Given the description of an element on the screen output the (x, y) to click on. 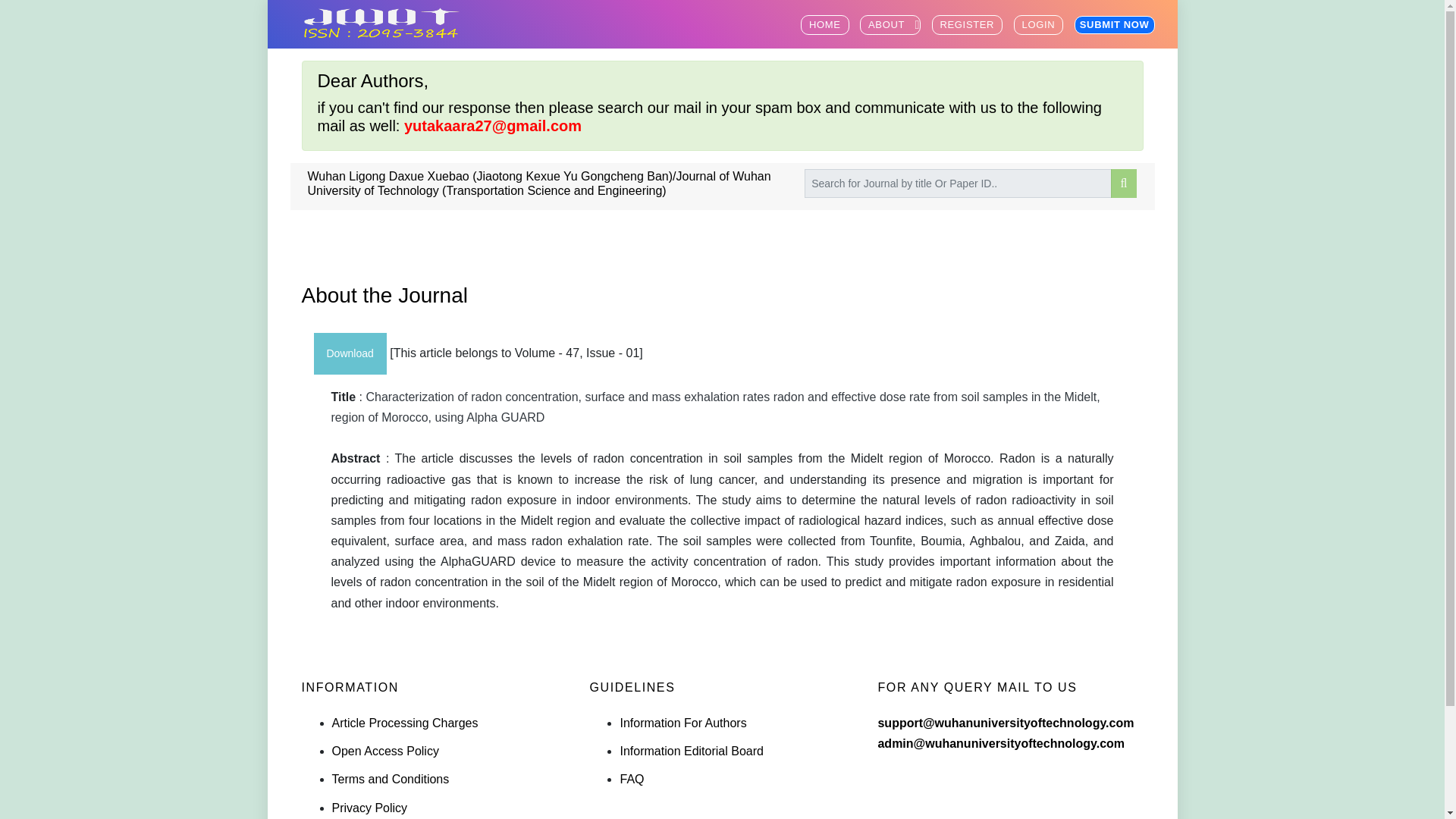
Information Editorial Board (691, 750)
HOME (824, 25)
Faq (631, 779)
Open Access Policy (385, 750)
ABOUT (890, 25)
REGISTER (967, 25)
SUBMIT NOW (1114, 24)
Information For Authors (682, 722)
Home (1038, 25)
